Given the description of an element on the screen output the (x, y) to click on. 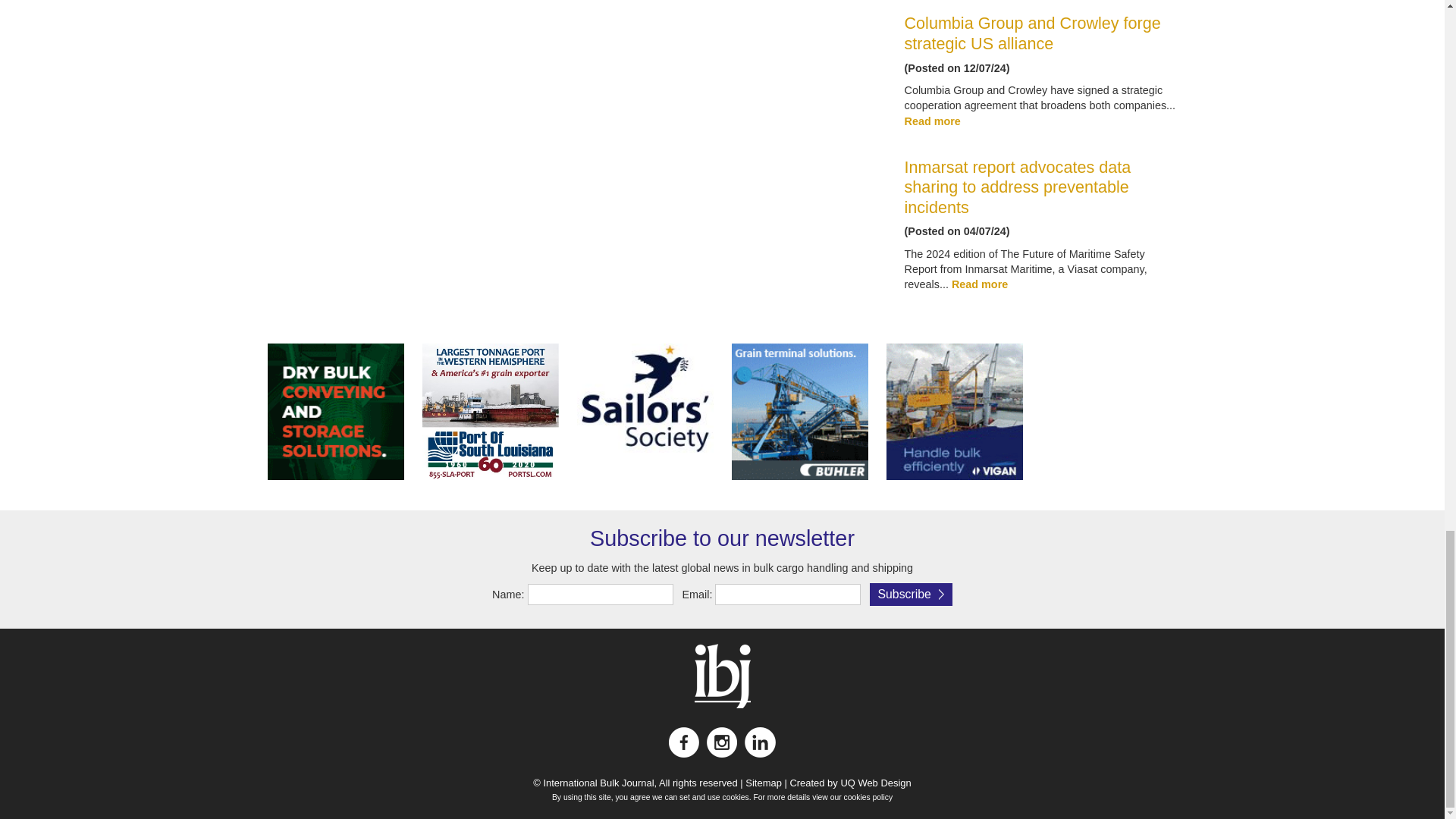
Subscribe (910, 594)
